Given the description of an element on the screen output the (x, y) to click on. 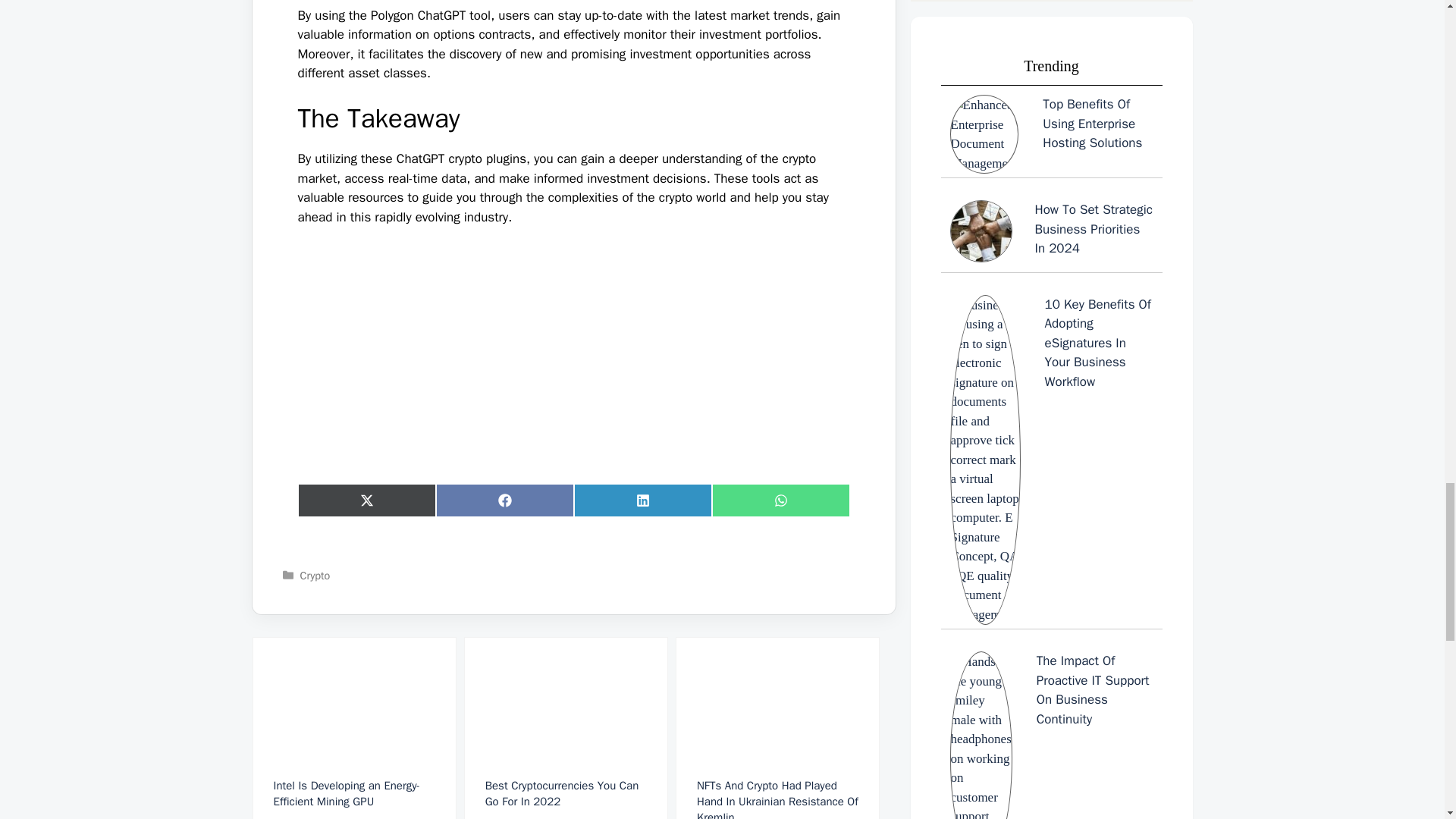
Intel Is Developing an Energy-Efficient Mining GPU (353, 728)
SHARE ON FACEBOOK (504, 500)
Intel Is Developing an Energy-Efficient Mining GPU (353, 728)
Crypto (314, 575)
SHARE ON WHATSAPP (779, 500)
Best Cryptocurrencies You Can Go For In 2022 (566, 728)
SHARE ON LINKEDIN (642, 500)
Best Cryptocurrencies You Can Go For In 2022 (566, 728)
